Given the description of an element on the screen output the (x, y) to click on. 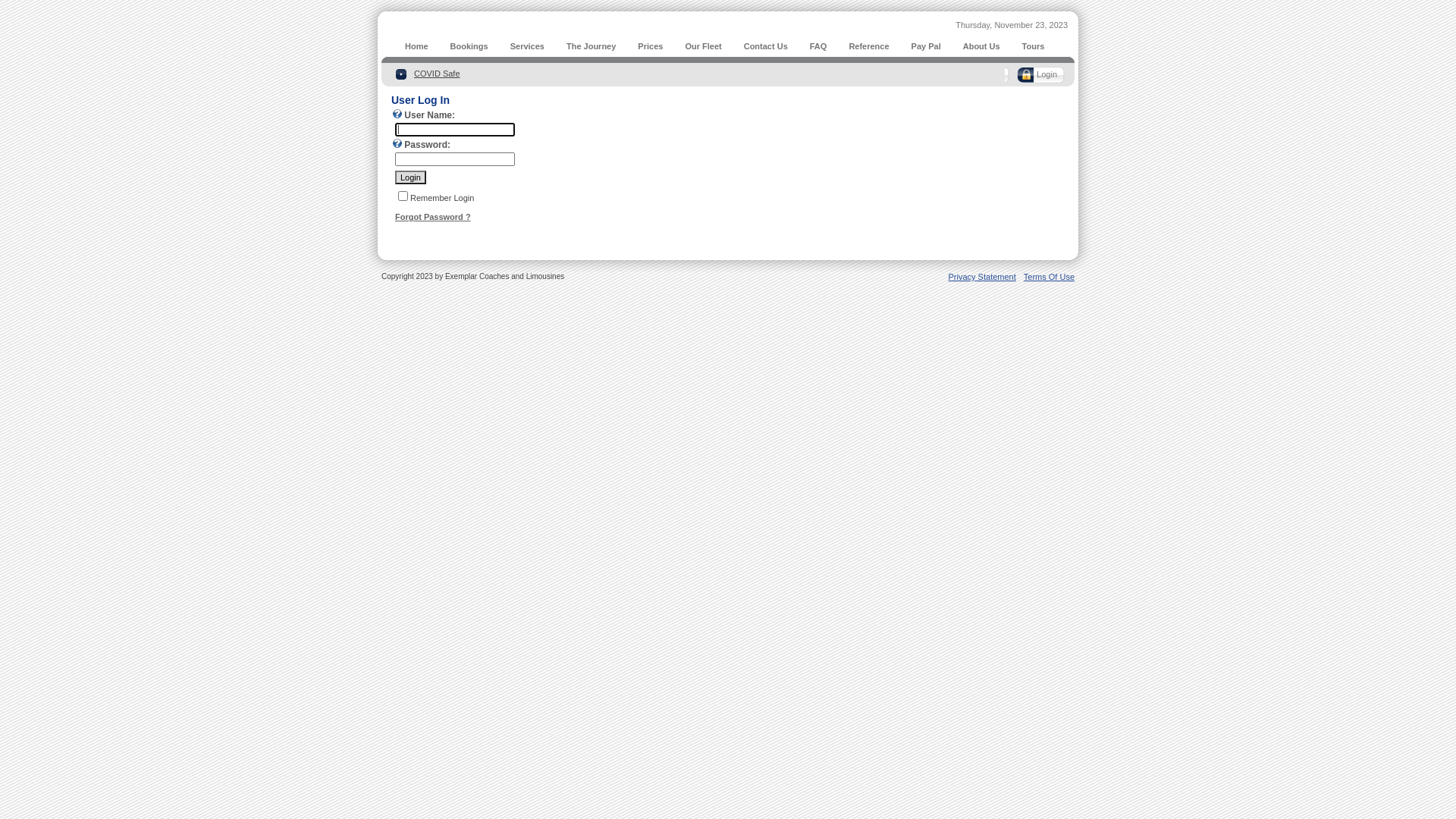
COVID Safe Element type: text (437, 73)
Privacy Statement Element type: text (981, 276)
Login Element type: text (1038, 74)
Login Element type: text (410, 177)
Terms Of Use Element type: text (1048, 276)
Forgot Password ? Element type: text (432, 216)
